Given the description of an element on the screen output the (x, y) to click on. 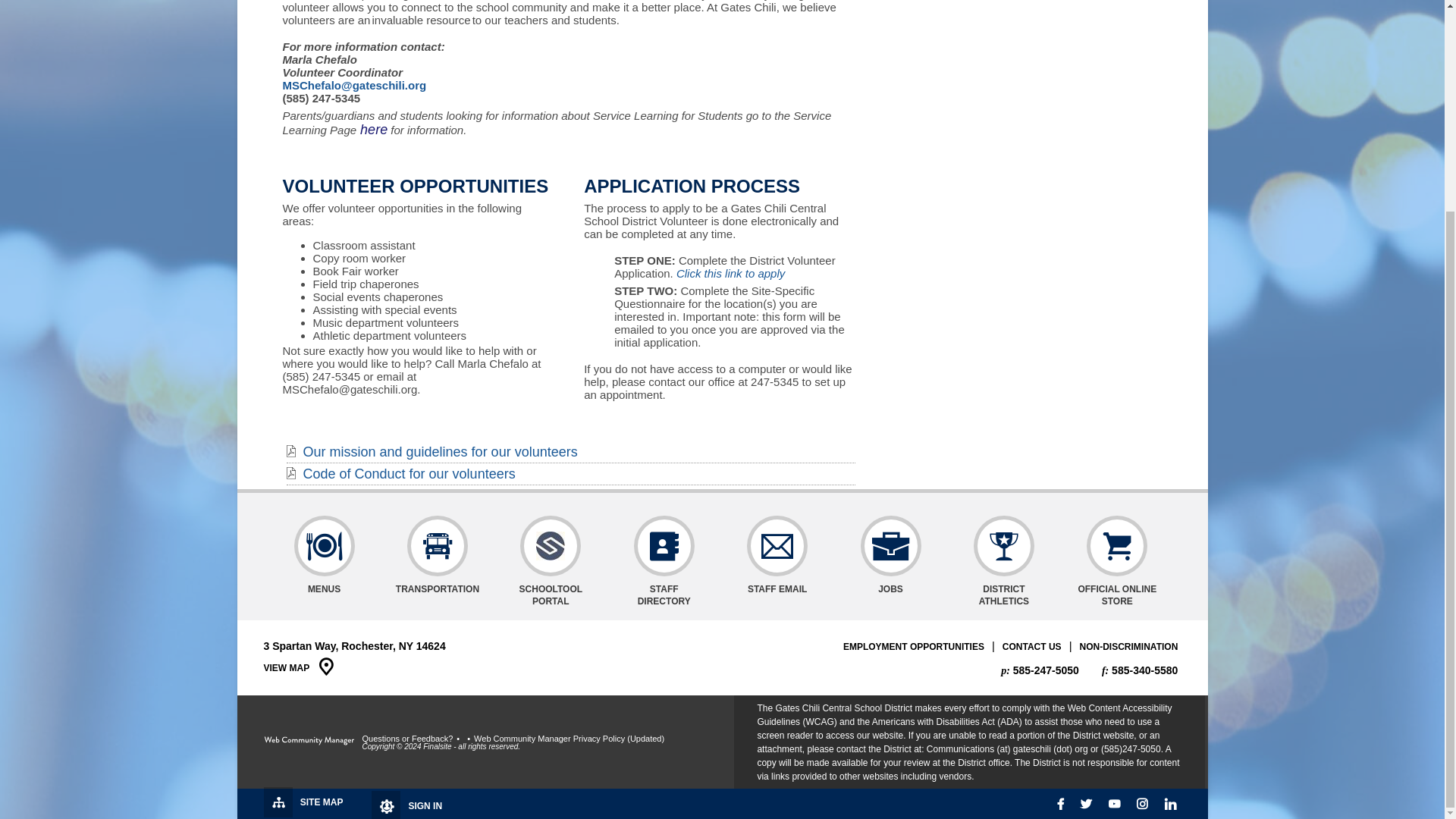
Finalsite - all rights reserved (309, 740)
